Given the description of an element on the screen output the (x, y) to click on. 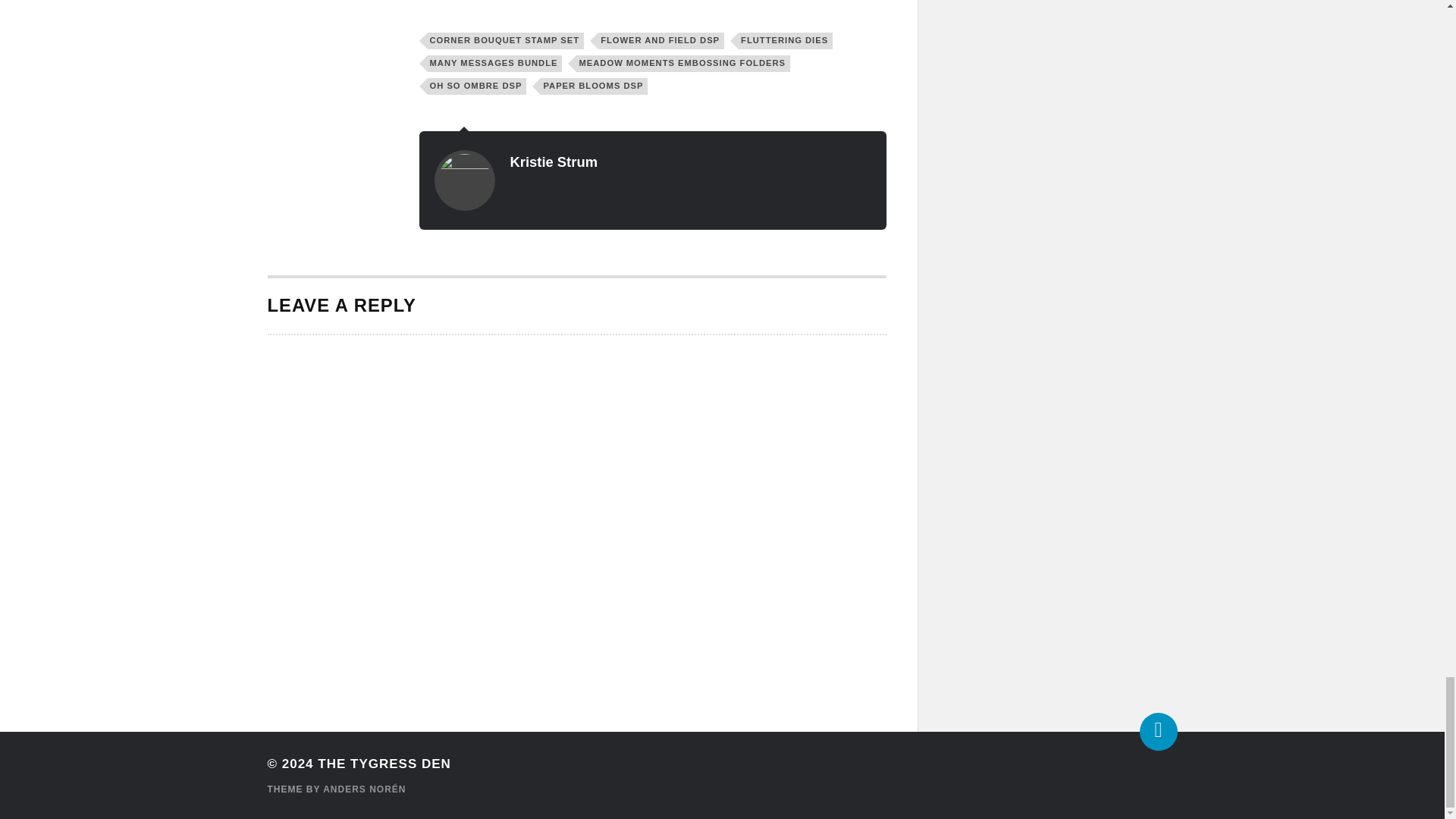
CORNER BOUQUET STAMP SET (506, 40)
FLUTTERING DIES (785, 40)
MANY MESSAGES BUNDLE (495, 63)
FLOWER AND FIELD DSP (660, 40)
